Given the description of an element on the screen output the (x, y) to click on. 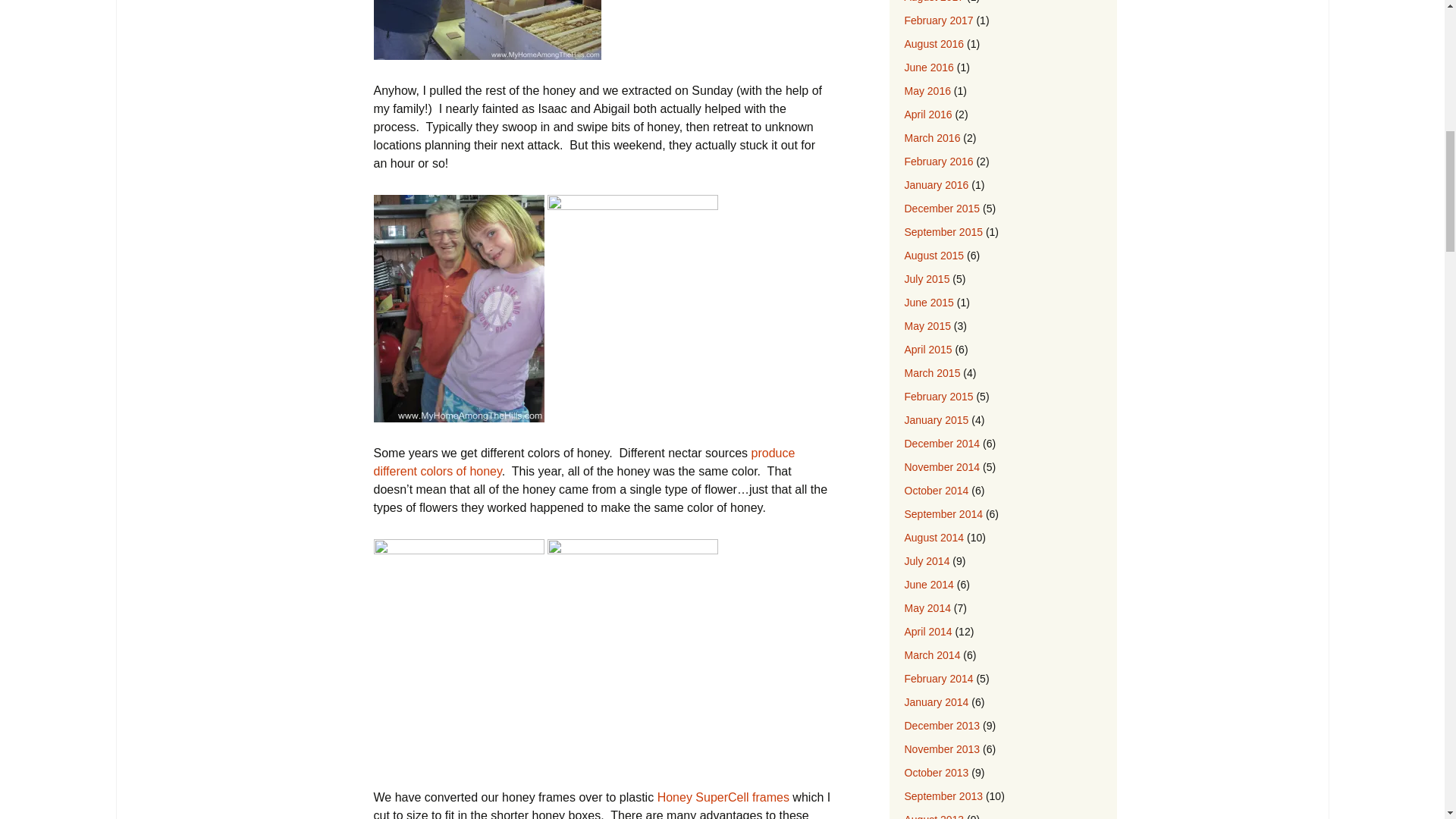
produce different colors of honey (583, 461)
